Given the description of an element on the screen output the (x, y) to click on. 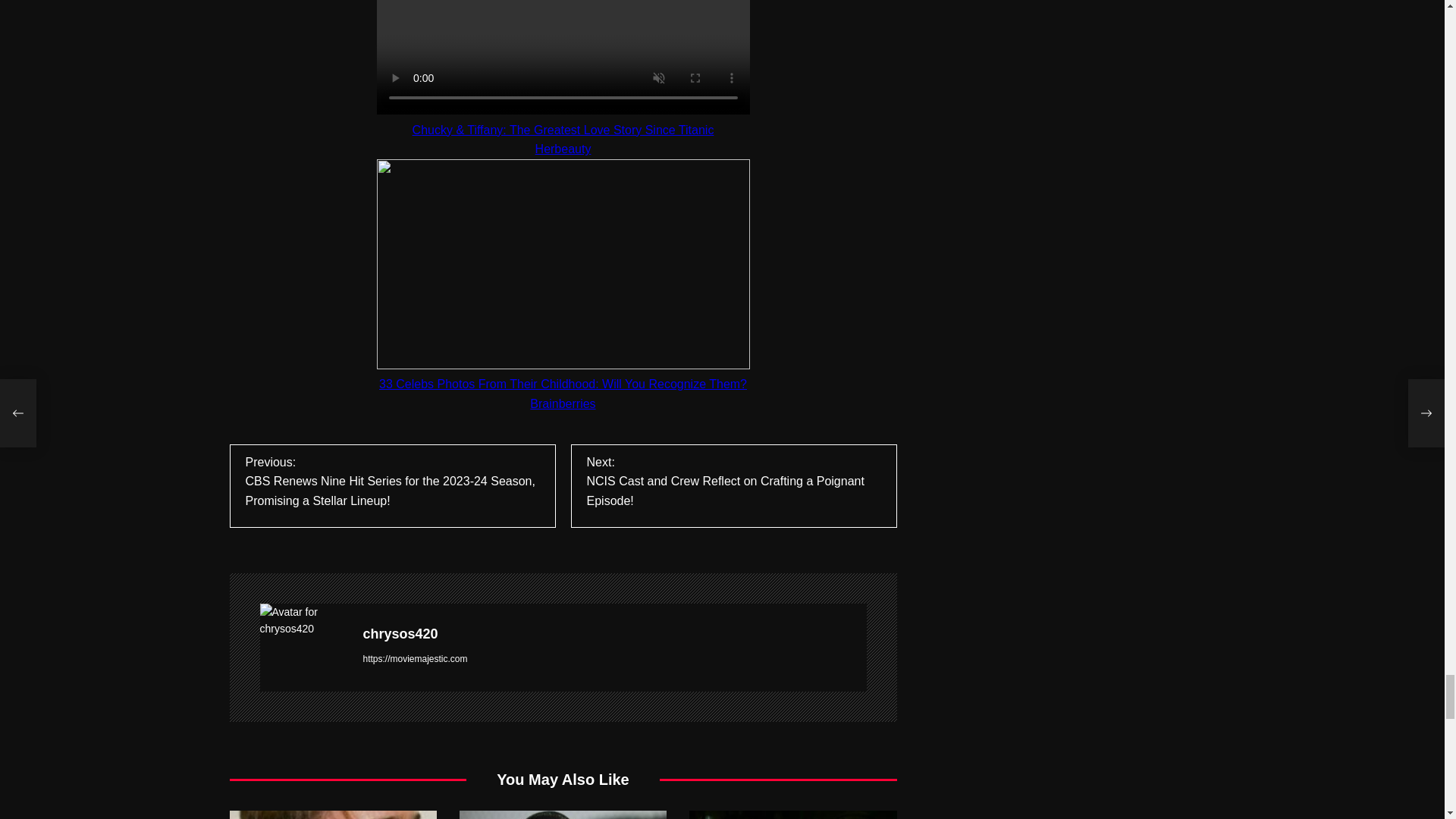
chrysos420 (614, 634)
chrysos420 (303, 620)
